Given the description of an element on the screen output the (x, y) to click on. 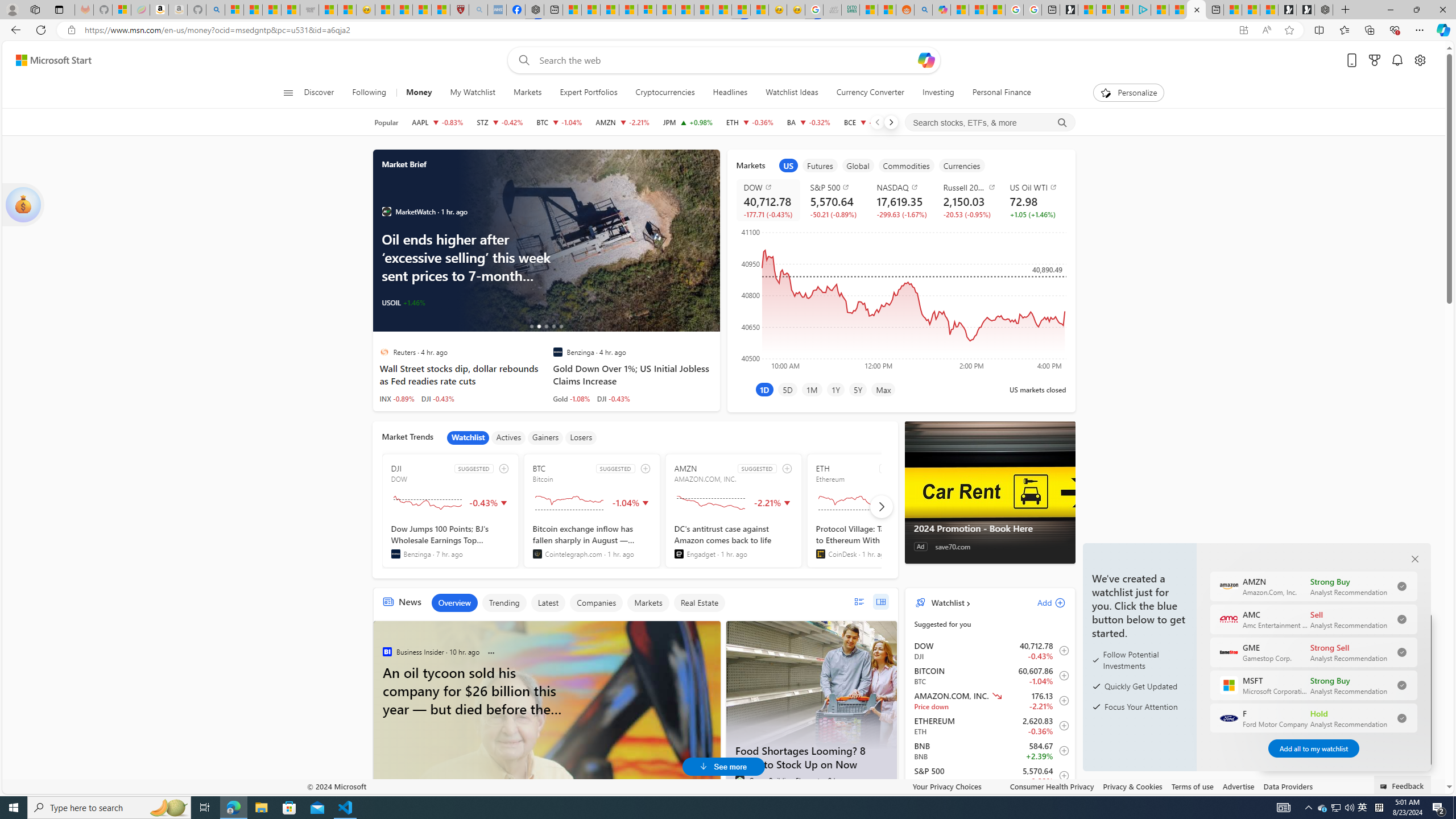
Microsoft Copilot in Bing (941, 9)
Markets (527, 92)
1Y (835, 389)
Actives (508, 437)
Reuters (384, 351)
Headlines (729, 92)
Personalize (1128, 92)
Gold -1.08% (571, 397)
add to watchlist (785, 468)
MSN (740, 9)
